Given the description of an element on the screen output the (x, y) to click on. 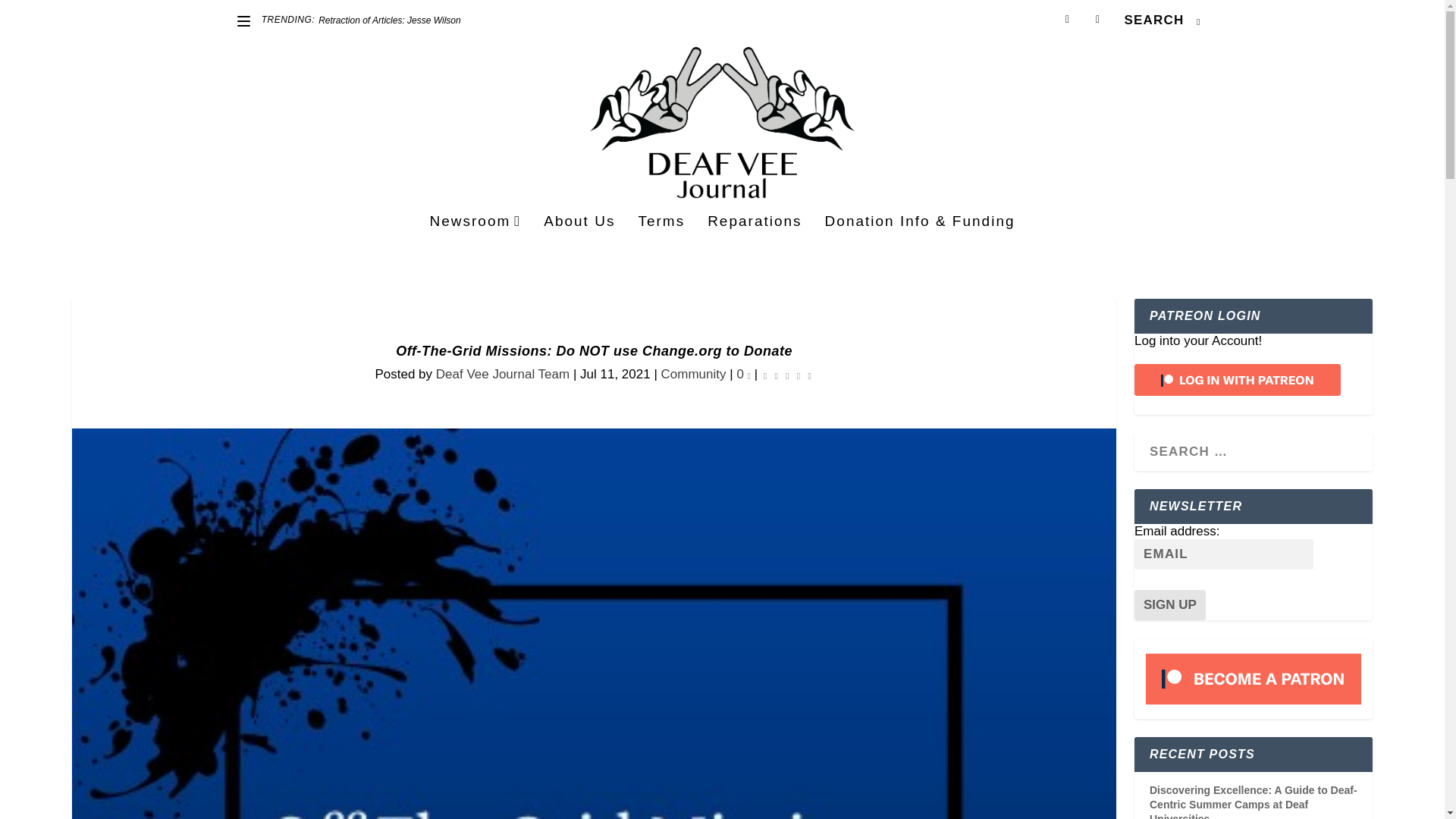
Search for: (1161, 20)
Reparations (754, 241)
Newsroom (475, 241)
Retraction of Articles: Jesse Wilson (389, 20)
Posts by Deaf Vee Journal Team (502, 373)
Community (693, 373)
Deaf Vee Journal Team (502, 373)
Rating: 0.00 (787, 374)
About Us (578, 241)
Sign up (1169, 604)
